Given the description of an element on the screen output the (x, y) to click on. 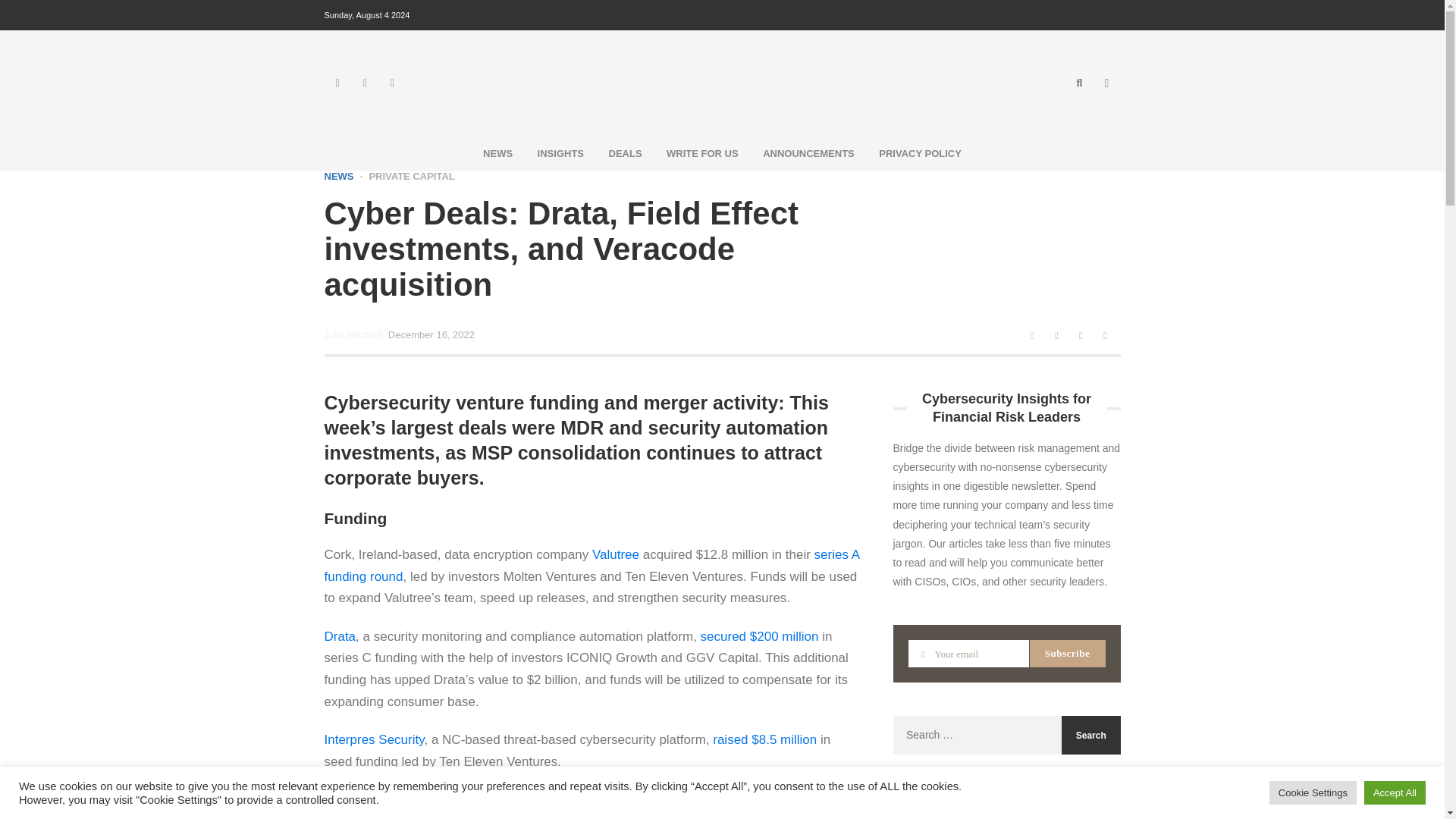
Expeto (592, 799)
NEWS (338, 175)
Search (1091, 734)
series A funding round (592, 565)
PRIVACY POLICY (920, 153)
NEWS (497, 153)
INSIGHTS (559, 153)
Interpres Security (374, 739)
ANNOUNCEMENTS (808, 153)
WRITE FOR US (702, 153)
Drata (340, 636)
PRIVATE CAPITAL (406, 175)
Search (1091, 734)
Valutree (615, 554)
DEALS (624, 153)
